Given the description of an element on the screen output the (x, y) to click on. 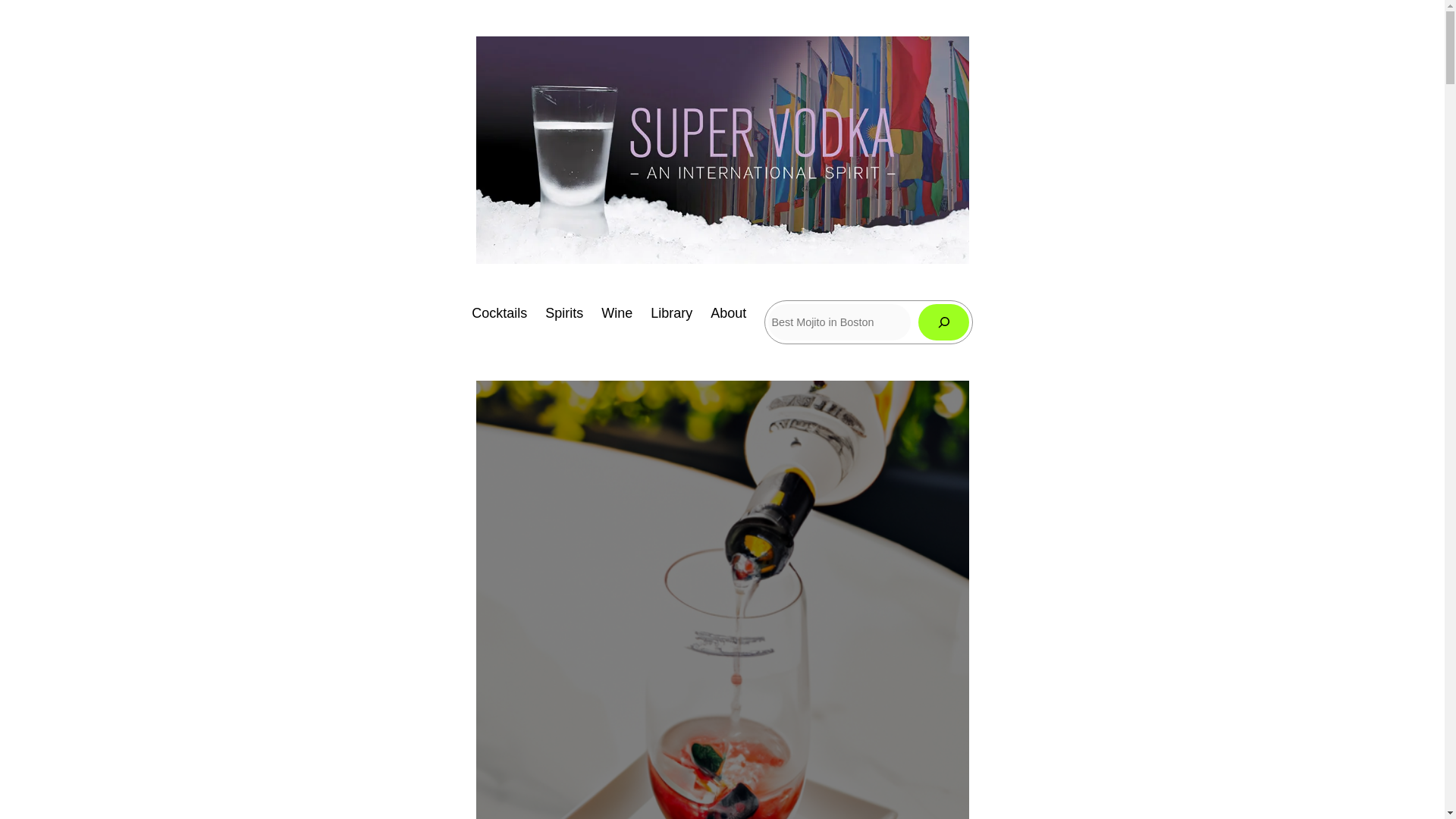
Library (671, 313)
Spirits (563, 313)
Wine (616, 313)
Cocktails (499, 313)
Shake Up Your Knowledge with Our Cocktails Section! (499, 313)
About (727, 313)
